Given the description of an element on the screen output the (x, y) to click on. 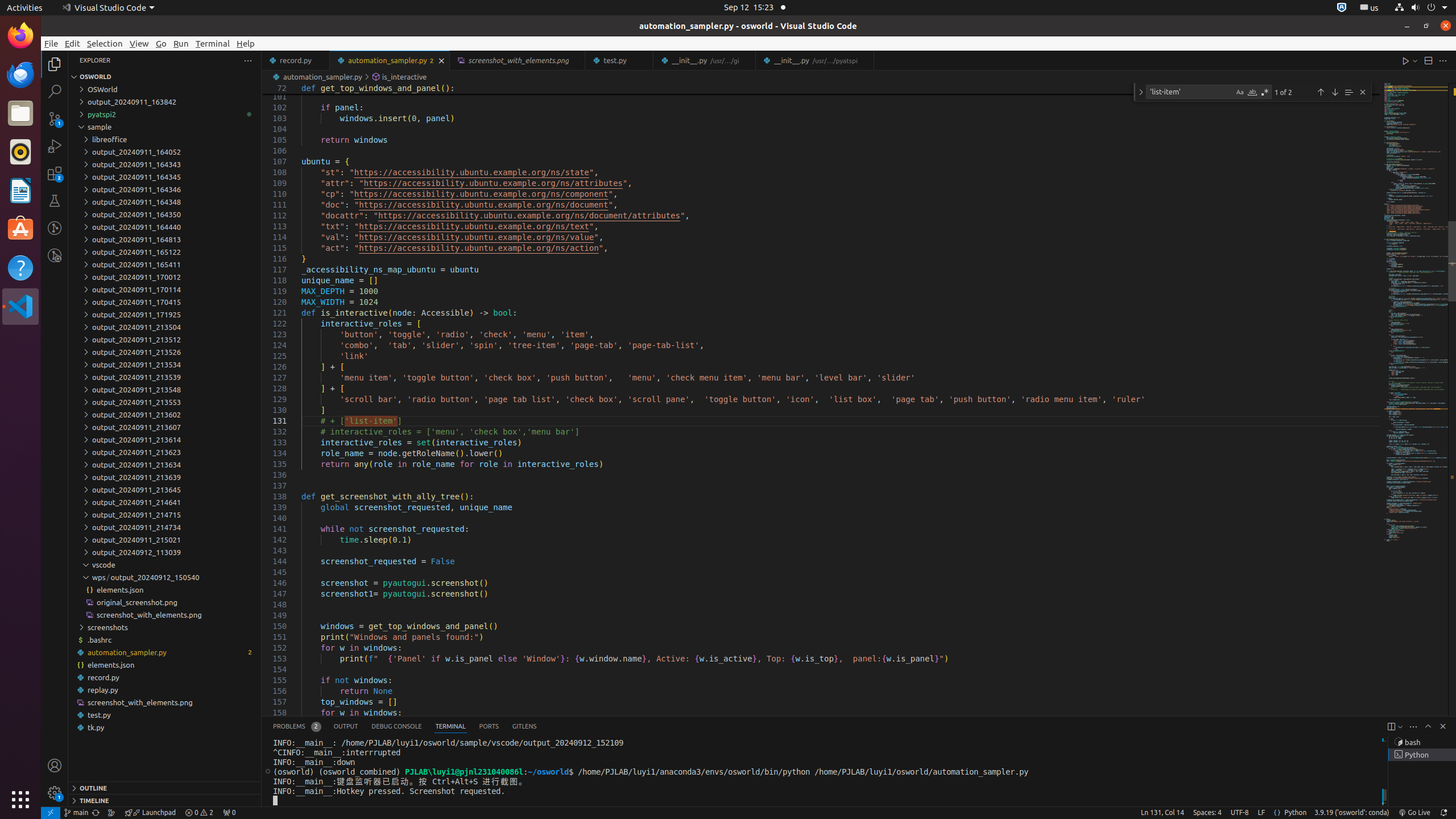
broadcast Go Live, Click to run live server Element type: push-button (1414, 812)
Terminal 5 Python Element type: list-item (1422, 754)
output_20240911_213602 Element type: tree-item (164, 414)
Source Control (Ctrl+Shift+G G) - 1 pending changes Element type: page-tab (54, 118)
